Given the description of an element on the screen output the (x, y) to click on. 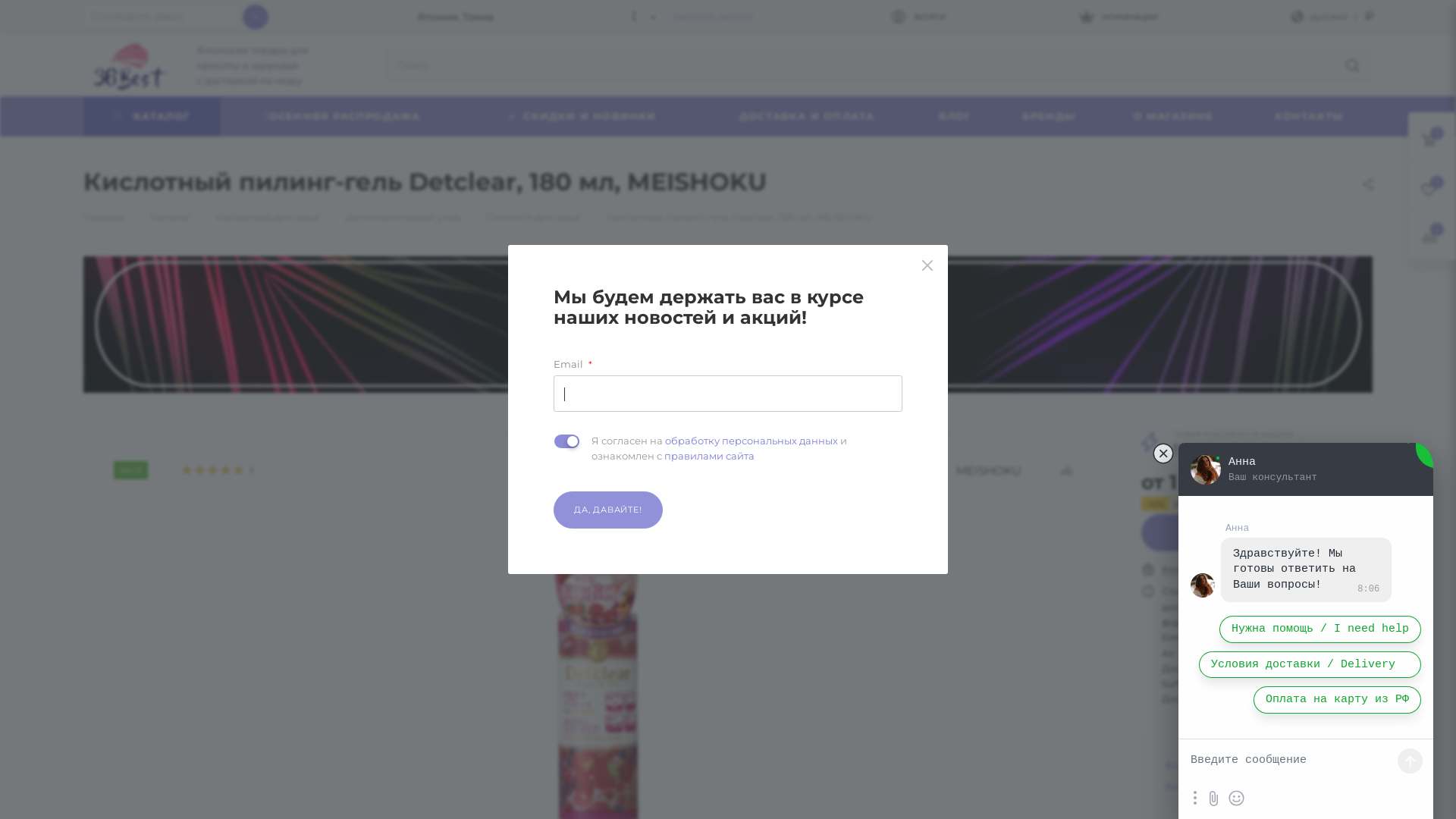
MEISHOKU Element type: text (988, 470)
japancosmo.ru Element type: text (1275, 698)
BF Element type: hover (727, 324)
